Given the description of an element on the screen output the (x, y) to click on. 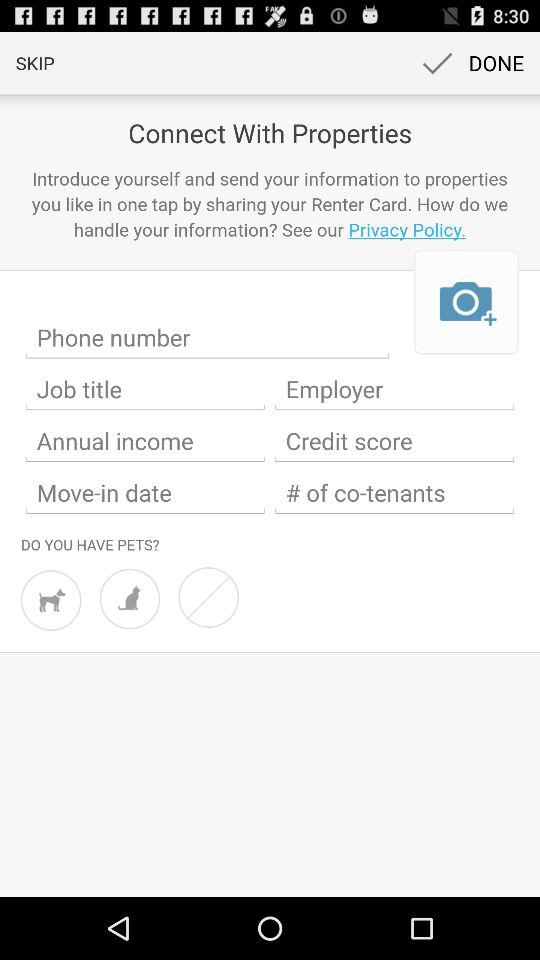
upload picture (466, 301)
